Given the description of an element on the screen output the (x, y) to click on. 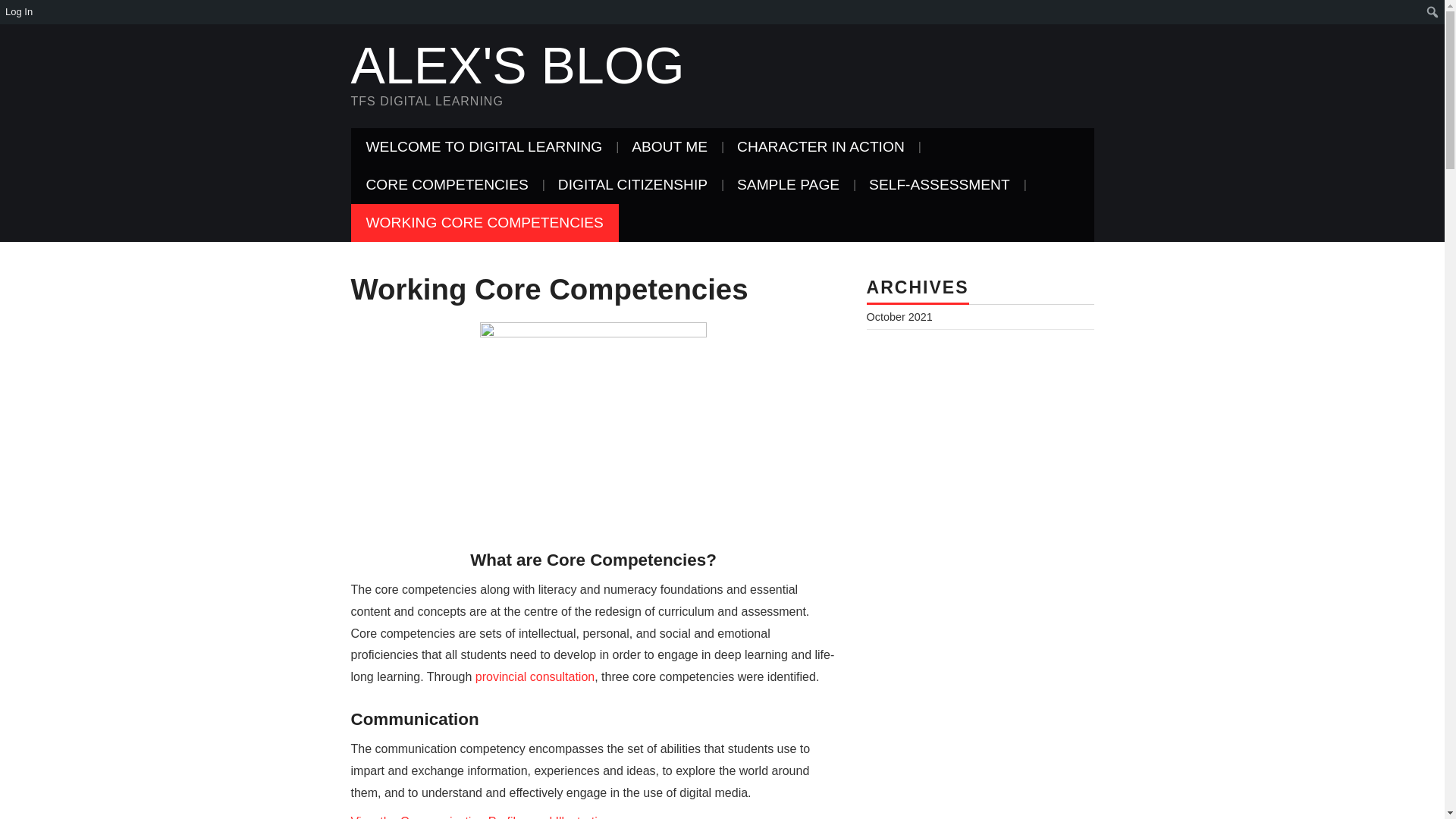
WORKING CORE COMPETENCIES (483, 222)
Log In (19, 12)
WELCOME TO DIGITAL LEARNING (483, 146)
SAMPLE PAGE (788, 184)
Search (16, 12)
CORE COMPETENCIES (446, 184)
DIGITAL CITIZENSHIP (632, 184)
October 2021 (898, 316)
Alex's Blog (517, 65)
provincial consultation (535, 676)
